Given the description of an element on the screen output the (x, y) to click on. 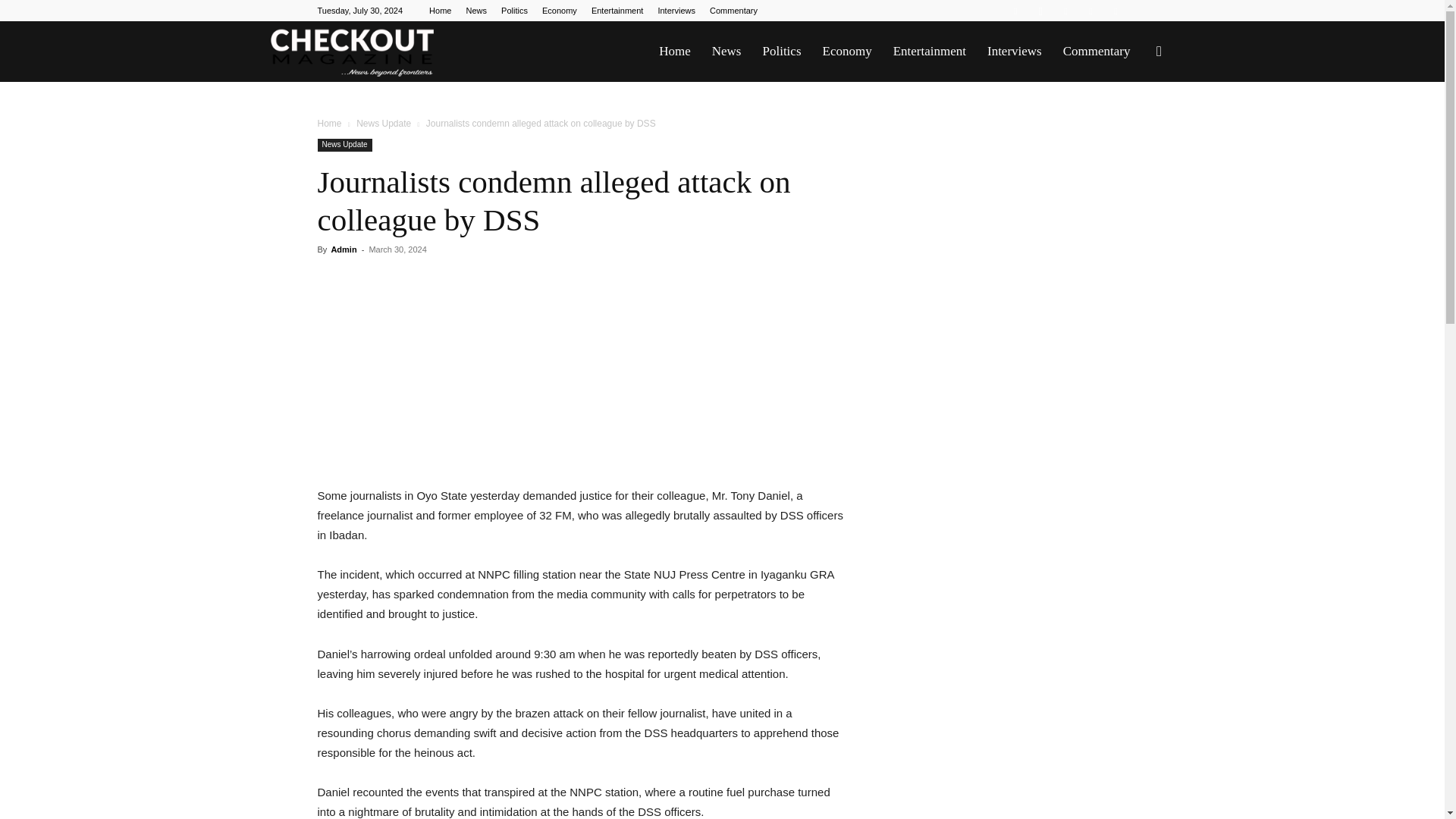
Commentary (1096, 51)
Twitter (1090, 10)
Youtube (1114, 10)
Mail (1065, 10)
Economy (846, 51)
Commentary (733, 10)
Entertainment (929, 51)
Home (328, 122)
Politics (513, 10)
News (475, 10)
Home (440, 10)
Facebook (1015, 10)
Entertainment (617, 10)
Interviews (1014, 51)
Search (1134, 124)
